Given the description of an element on the screen output the (x, y) to click on. 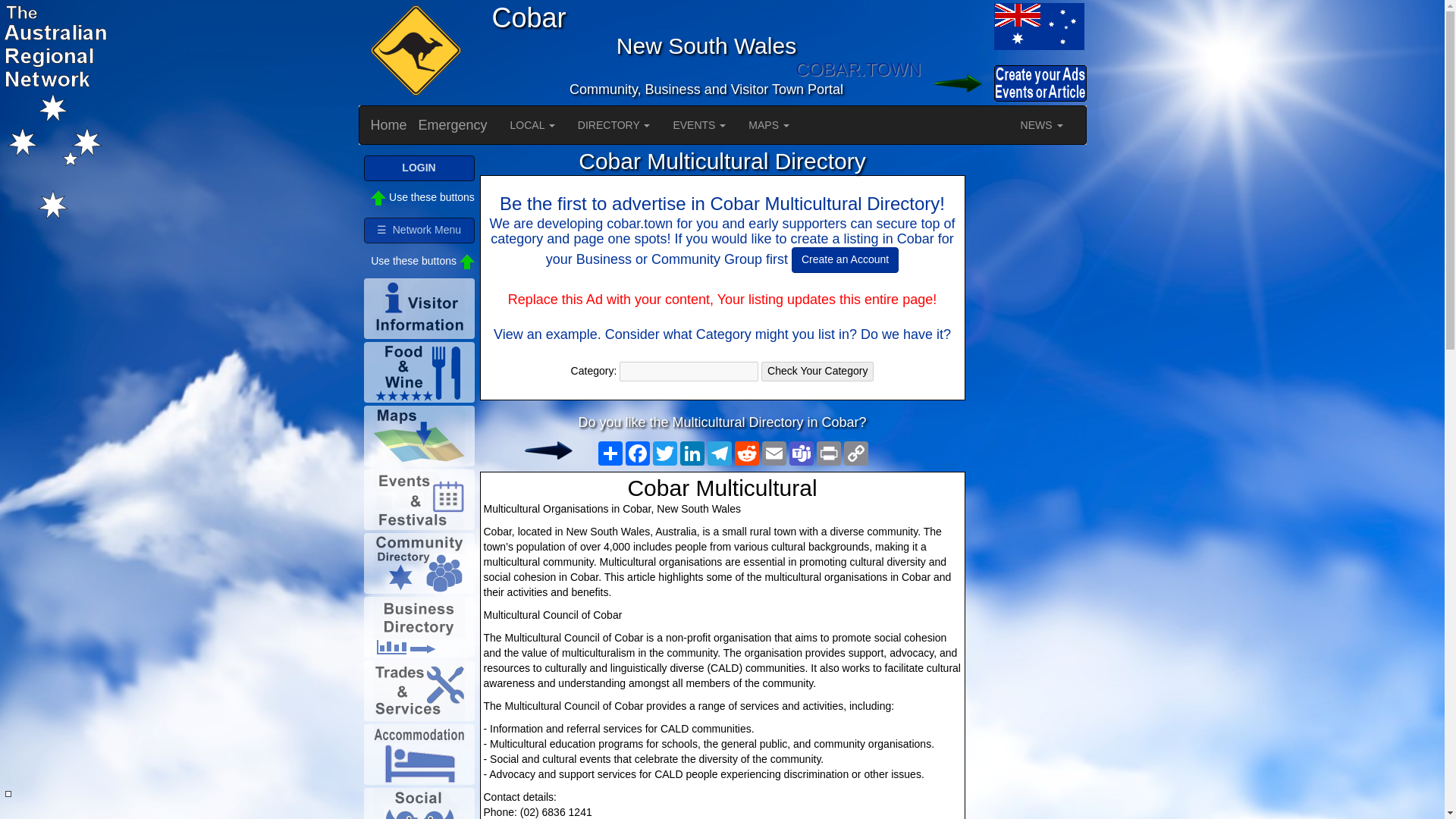
Check Your Category (817, 371)
LOCAL (532, 125)
Login to cobar.town (956, 83)
Cobar Australia (1037, 26)
Emergency (453, 125)
Cobar Skippycoin ICG (413, 52)
Please like our Page (548, 450)
Australia (956, 26)
DIRECTORY (614, 125)
